Given the description of an element on the screen output the (x, y) to click on. 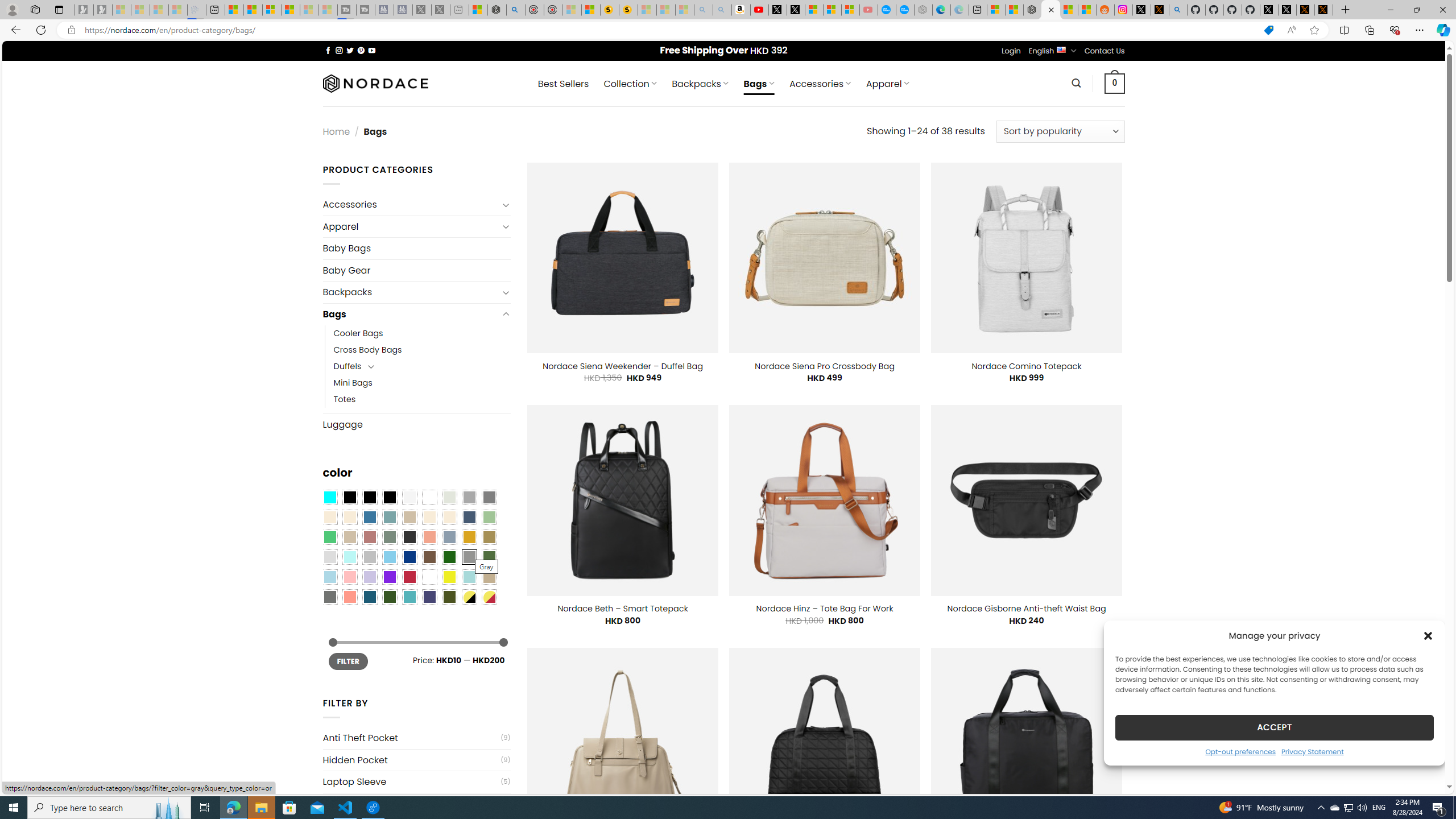
Nordace Comino Totepack (1026, 365)
ACCEPT (1274, 727)
Coral (429, 536)
Caramel (429, 517)
Green (488, 557)
Totes (344, 398)
Baby Bags (416, 248)
Luggage (416, 423)
